Given the description of an element on the screen output the (x, y) to click on. 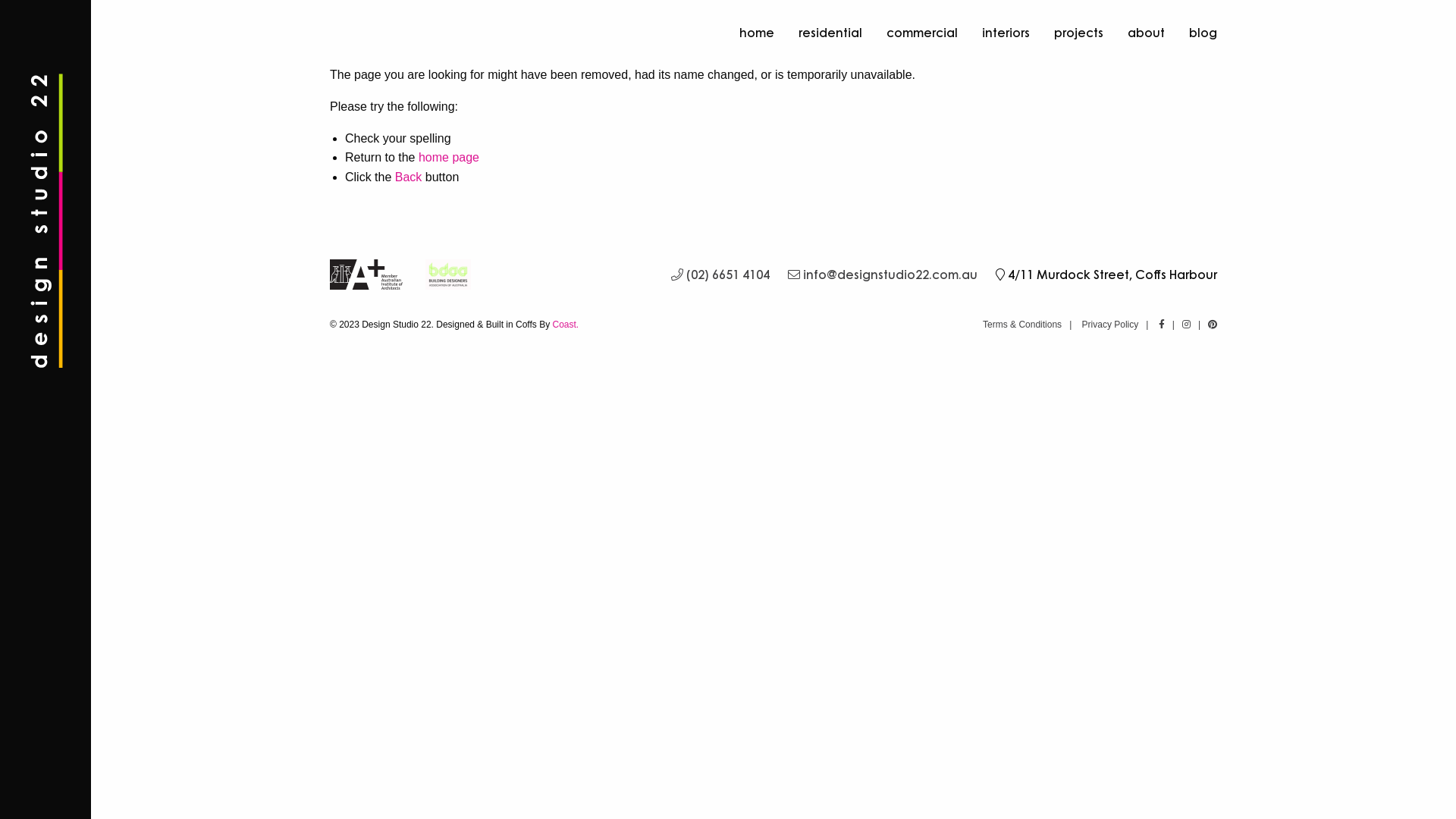
home page Element type: text (448, 156)
blog Element type: text (1196, 32)
interiors Element type: text (1005, 32)
home Element type: text (756, 32)
Coast. Element type: text (565, 324)
Back Element type: text (408, 176)
info@designstudio22.com.au Element type: text (882, 275)
(02) 6651 4104 Element type: text (720, 275)
Terms & Conditions Element type: text (1021, 324)
Privacy Policy Element type: text (1110, 324)
projects Element type: text (1078, 32)
residential Element type: text (830, 32)
about Element type: text (1145, 32)
commercial Element type: text (921, 32)
